Given the description of an element on the screen output the (x, y) to click on. 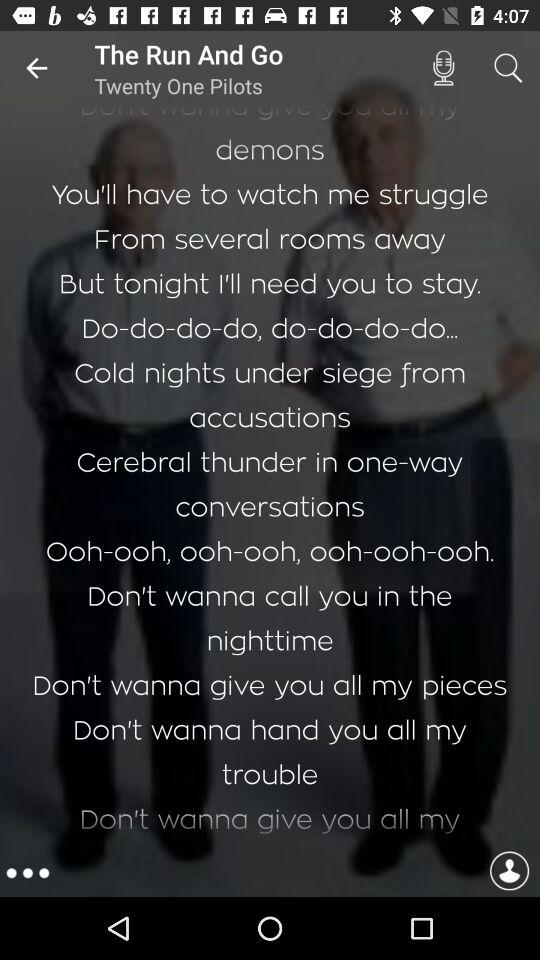
press the item above the i can t icon (36, 68)
